Given the description of an element on the screen output the (x, y) to click on. 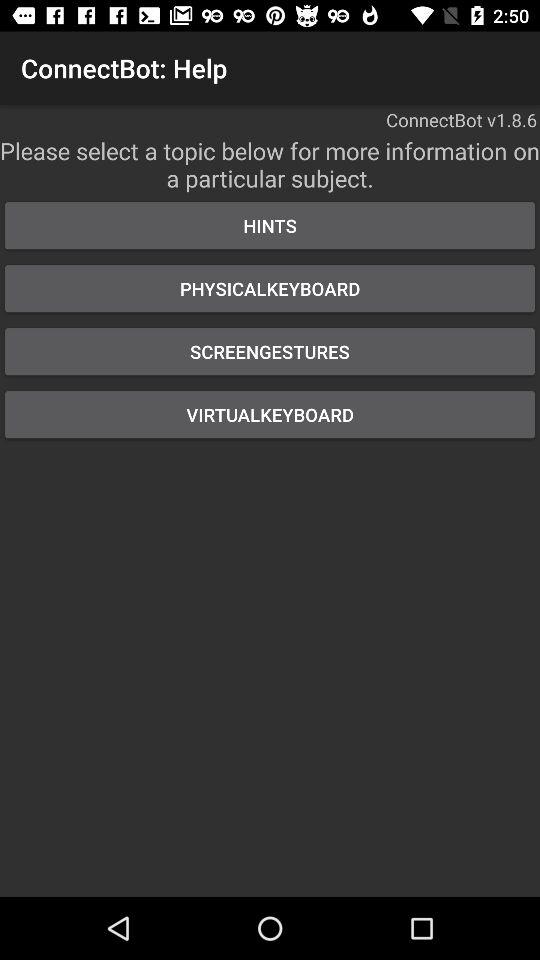
turn off the screengestures (270, 351)
